Given the description of an element on the screen output the (x, y) to click on. 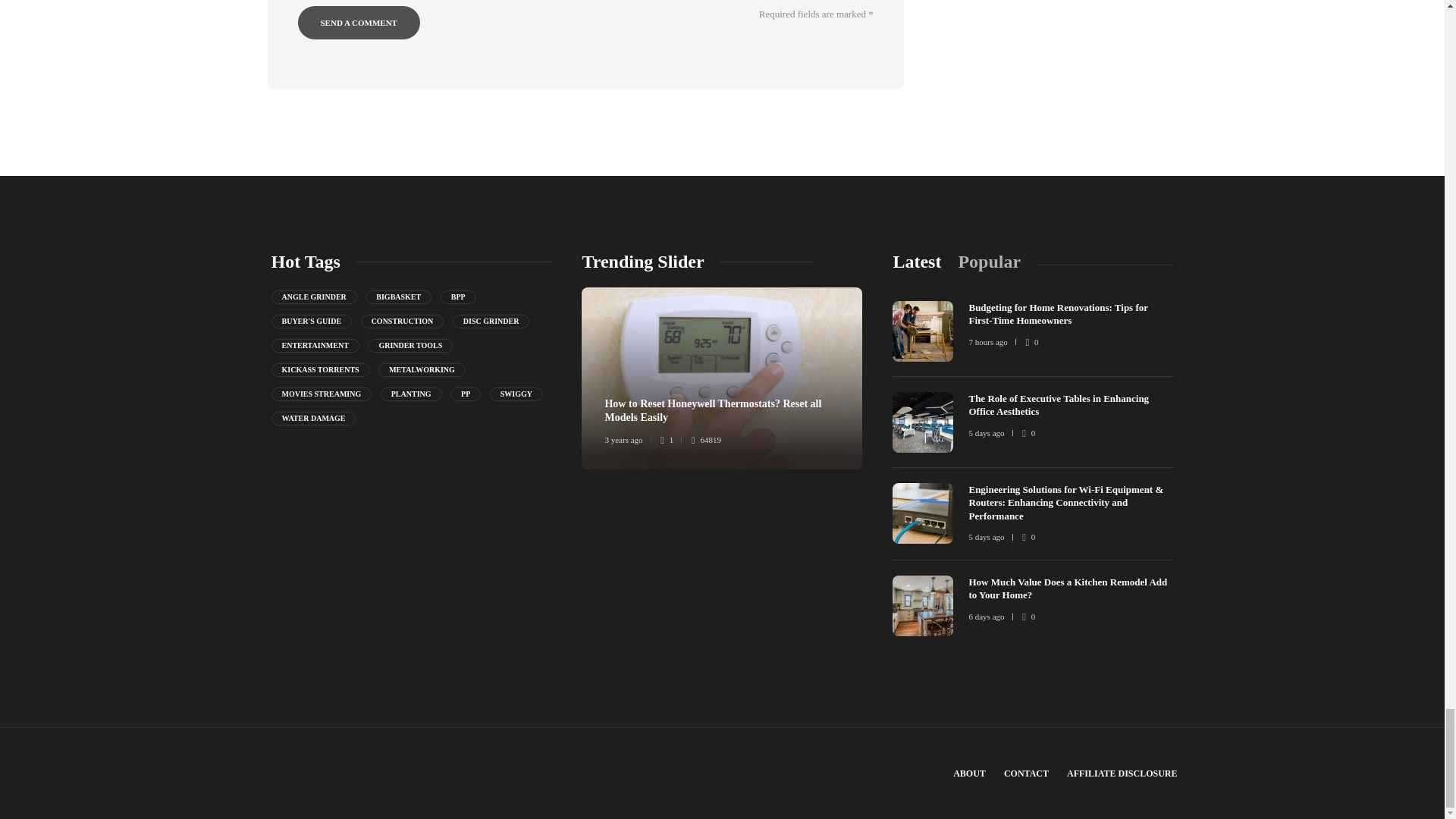
Send a comment (358, 22)
